Given the description of an element on the screen output the (x, y) to click on. 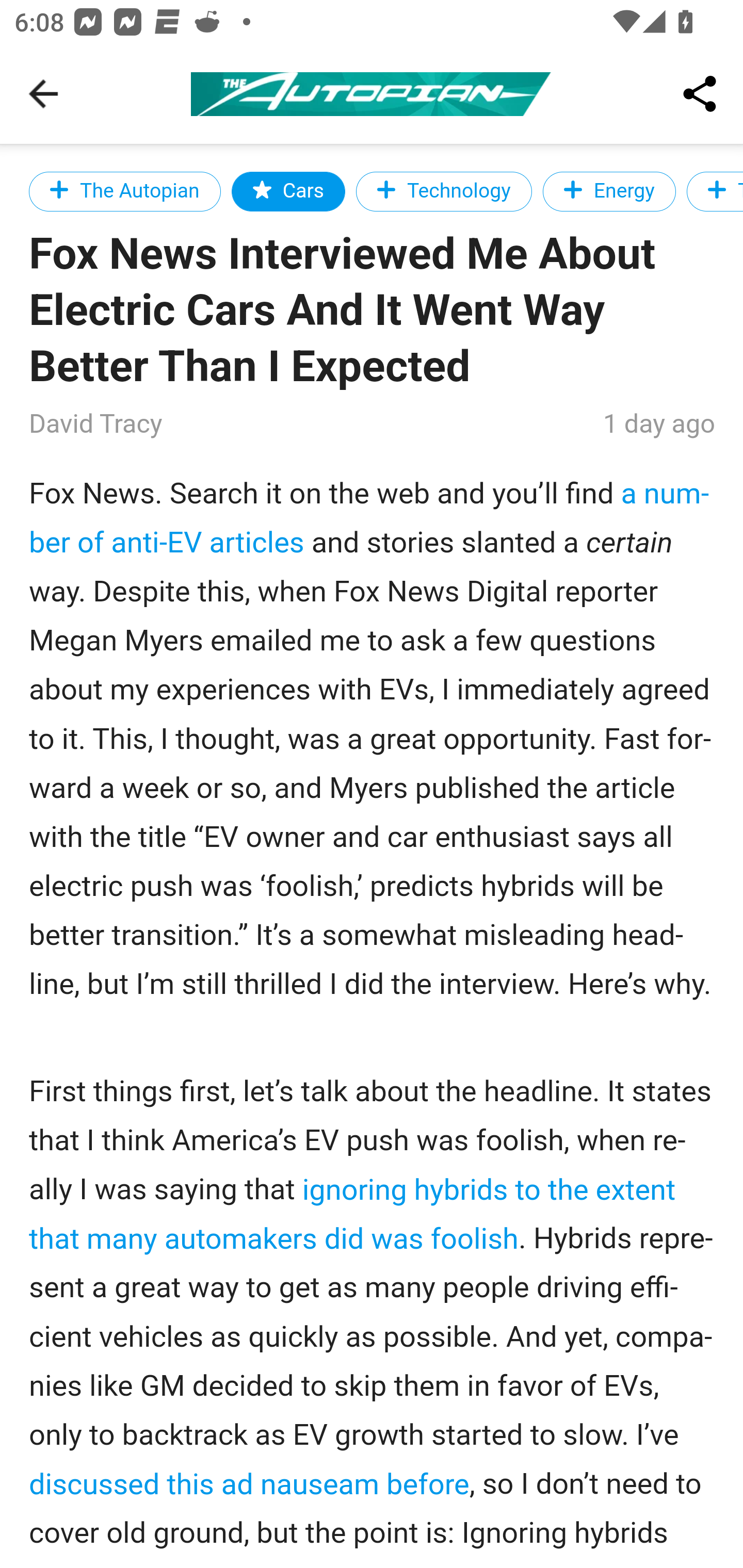
The Autopian (125, 191)
Cars (288, 191)
Technology (442, 191)
Energy (608, 191)
Transportation (714, 191)
 a number of anti-EV articles (368, 517)
discussed this ad nauseam before (248, 1482)
